Given the description of an element on the screen output the (x, y) to click on. 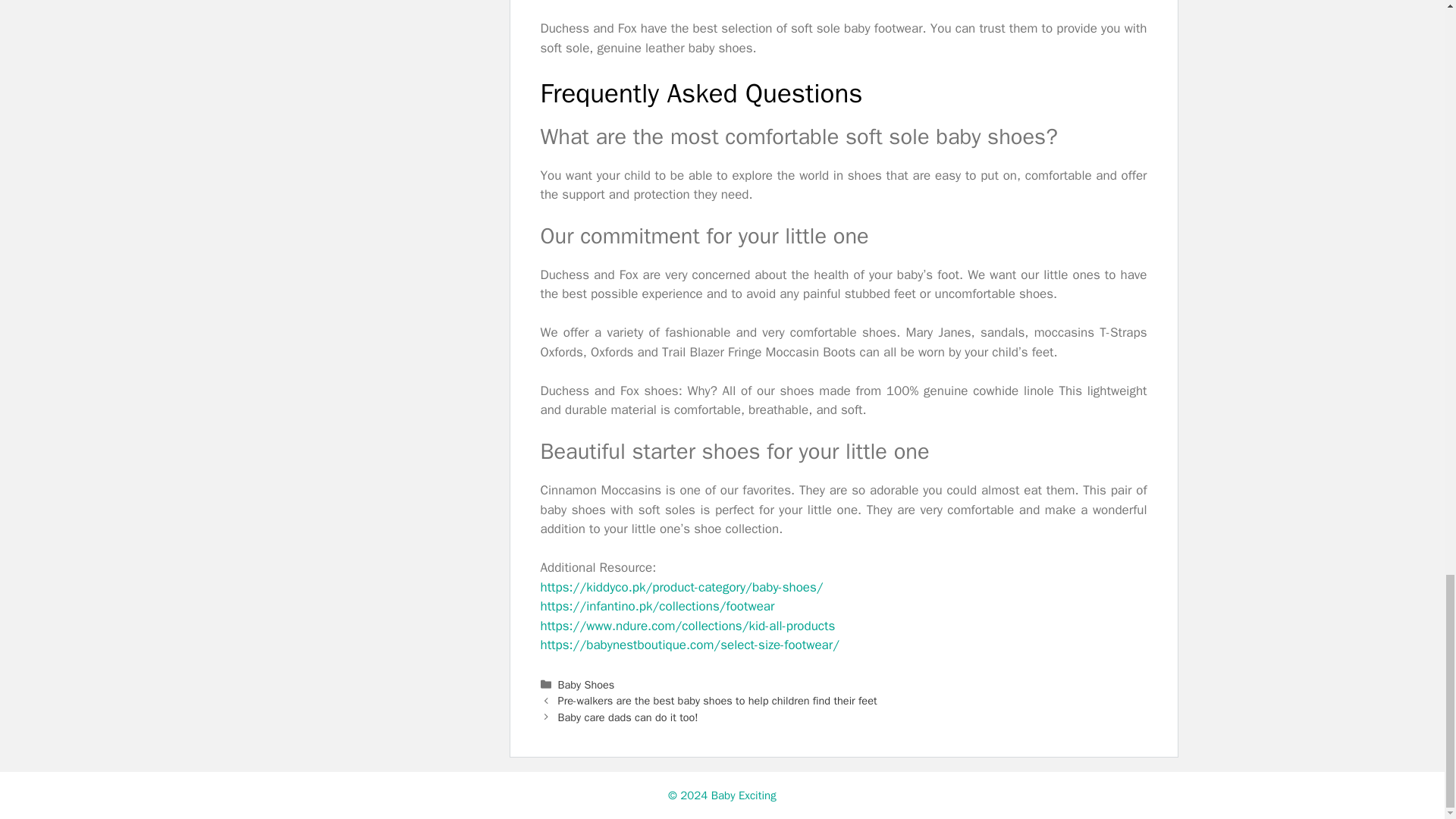
Baby Shoes (585, 684)
Baby care dads can do it too! (627, 716)
